Given the description of an element on the screen output the (x, y) to click on. 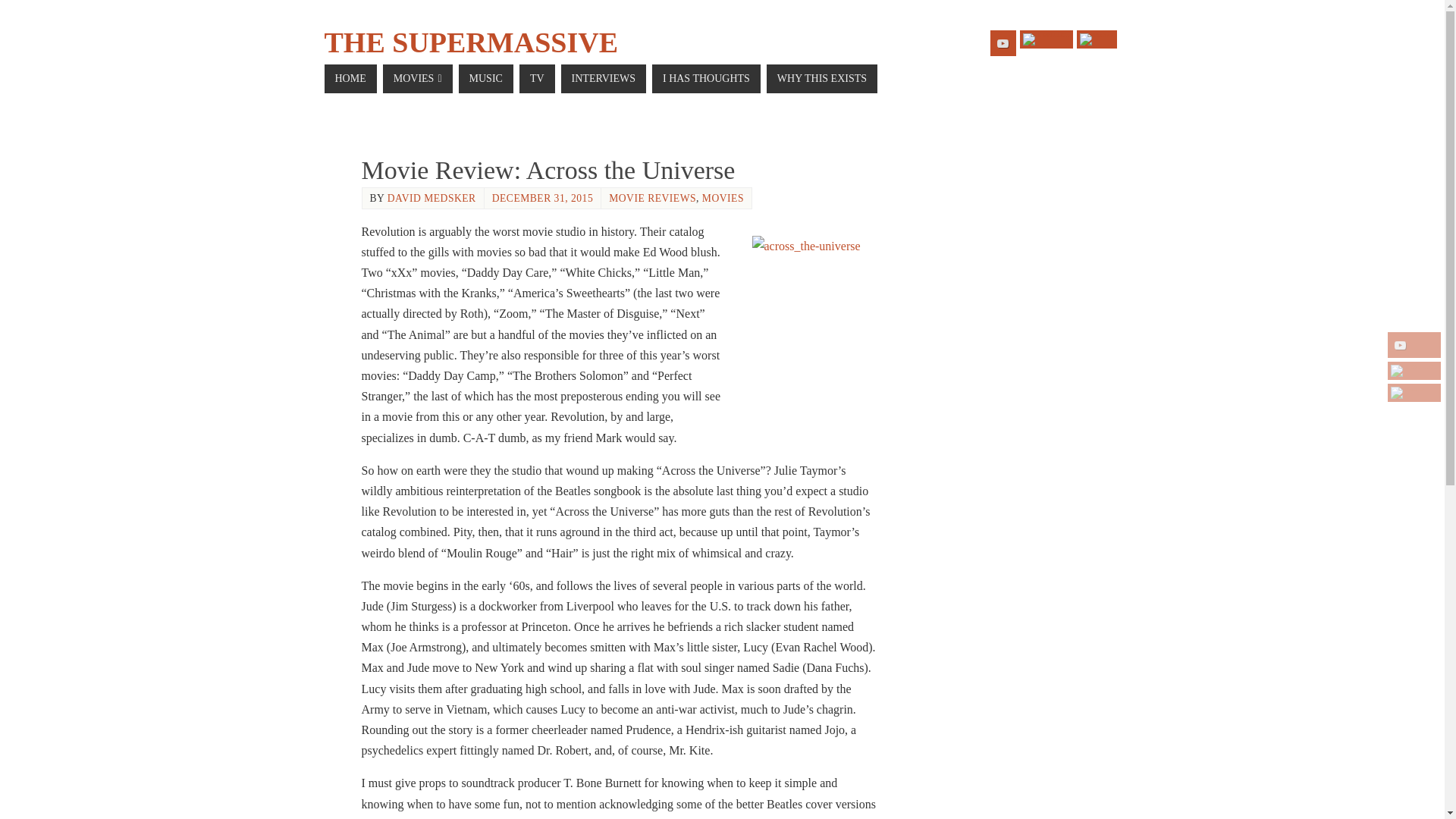
THE SUPERMASSIVE (470, 42)
View all posts by David Medsker (431, 197)
RSS (1414, 393)
Twitter (1414, 370)
YouTube (1414, 344)
WHY THIS EXISTS (822, 78)
I HAS THOUGHTS (706, 78)
MOVIES (417, 78)
The Supermassive (470, 42)
HOME (350, 78)
